Given the description of an element on the screen output the (x, y) to click on. 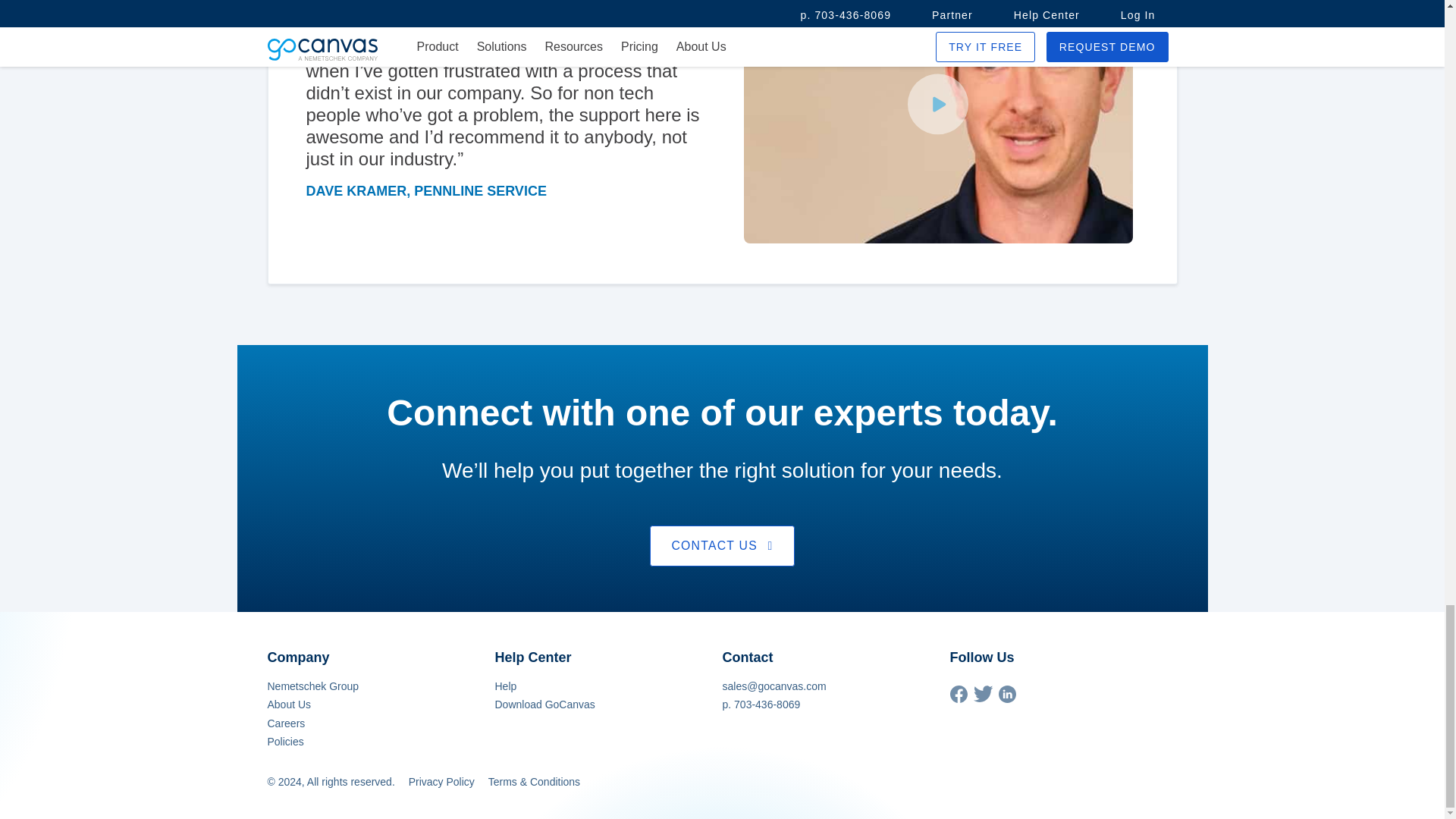
GoCanvas Facebook (957, 698)
GoCanvas LinkedIn (1005, 698)
GoCanvas Twitter (982, 698)
